Given the description of an element on the screen output the (x, y) to click on. 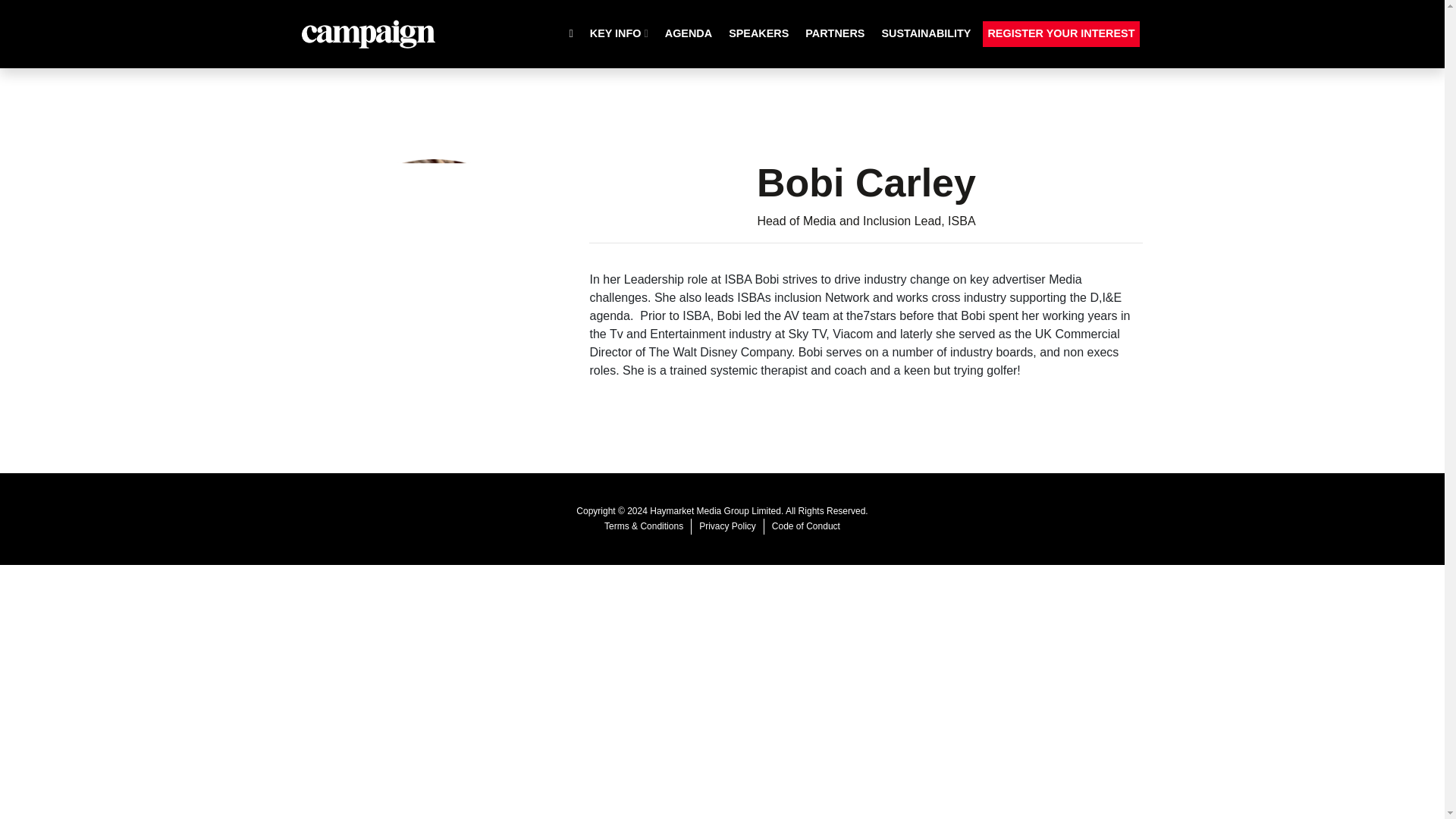
PARTNERS (834, 33)
Code of Conduct (804, 525)
AGENDA (688, 33)
SPEAKERS (758, 33)
KEY INFO (618, 33)
REGISTER YOUR INTEREST (1060, 33)
SUSTAINABILITY (925, 33)
REGISTER YOUR INTEREST (1060, 33)
Privacy Policy (726, 525)
